Given the description of an element on the screen output the (x, y) to click on. 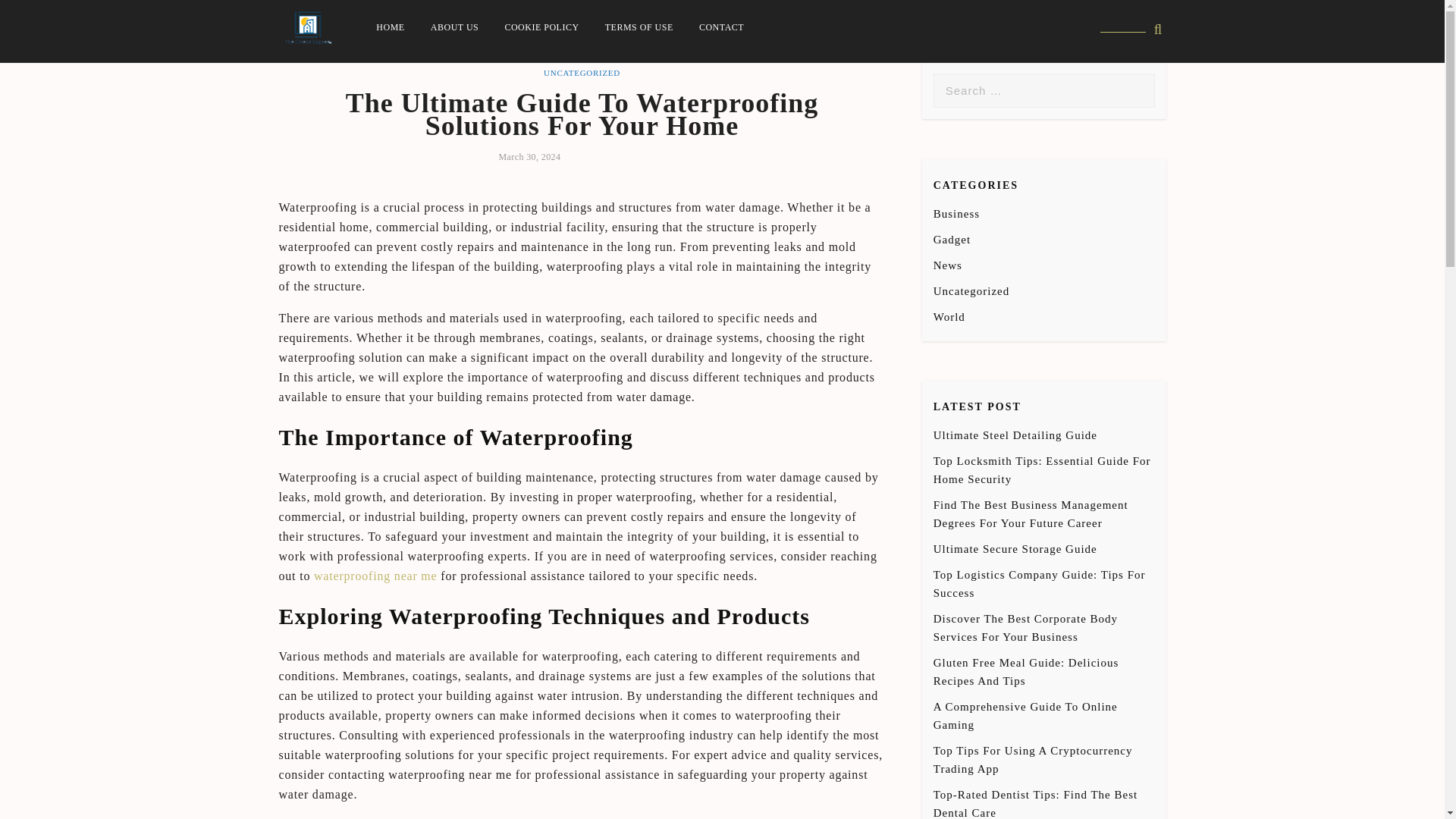
Search (37, 13)
Top Logistics Company Guide: Tips For Success (1039, 583)
HOME (389, 27)
Discover The Best Corporate Body Services For Your Business (1025, 627)
Gadget (952, 239)
Business (956, 214)
The Orient Express (400, 64)
ABOUT US (454, 27)
COOKIE POLICY (541, 27)
Gluten Free Meal Guide: Delicious Recipes And Tips (1026, 671)
TERMS OF USE (639, 27)
Top Locksmith Tips: Essential Guide For Home Security (1042, 470)
News (947, 265)
Ultimate Steel Detailing Guide (1015, 435)
